Given the description of an element on the screen output the (x, y) to click on. 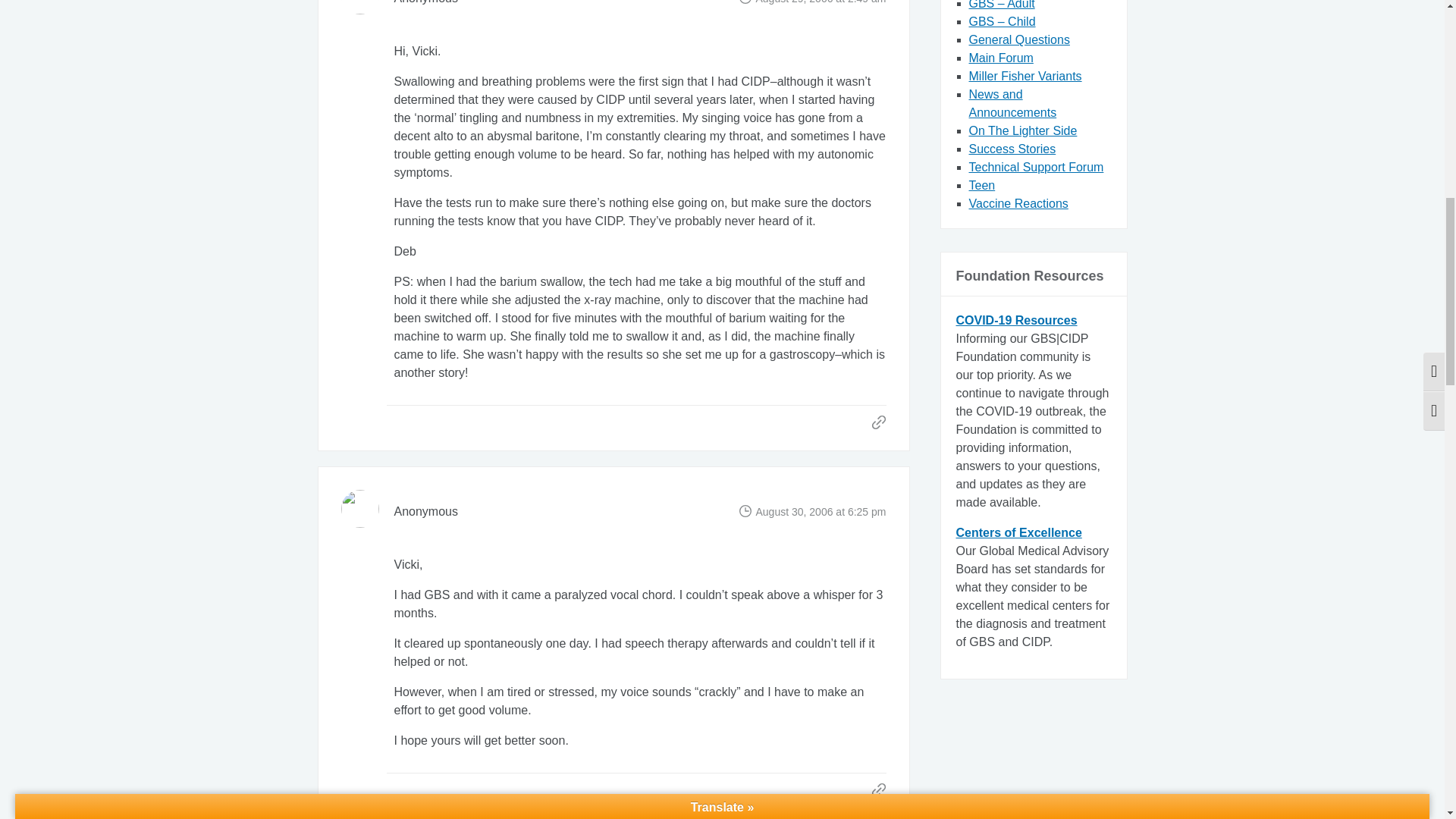
News and Announcements (1013, 102)
Main Forum (1001, 57)
General Questions (1019, 39)
Miller Fisher Variants (1025, 75)
